Given the description of an element on the screen output the (x, y) to click on. 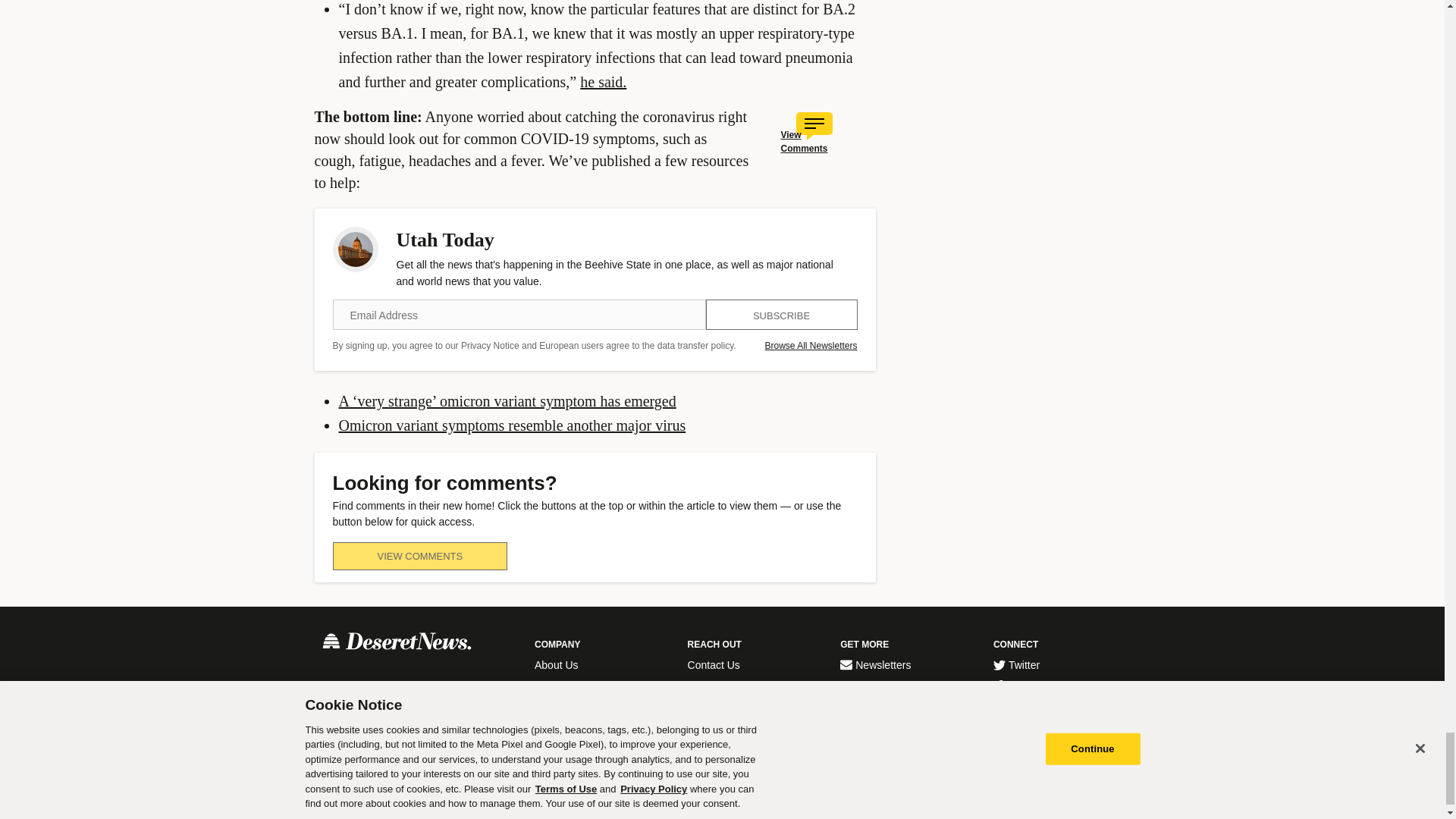
he said. (602, 81)
